Given the description of an element on the screen output the (x, y) to click on. 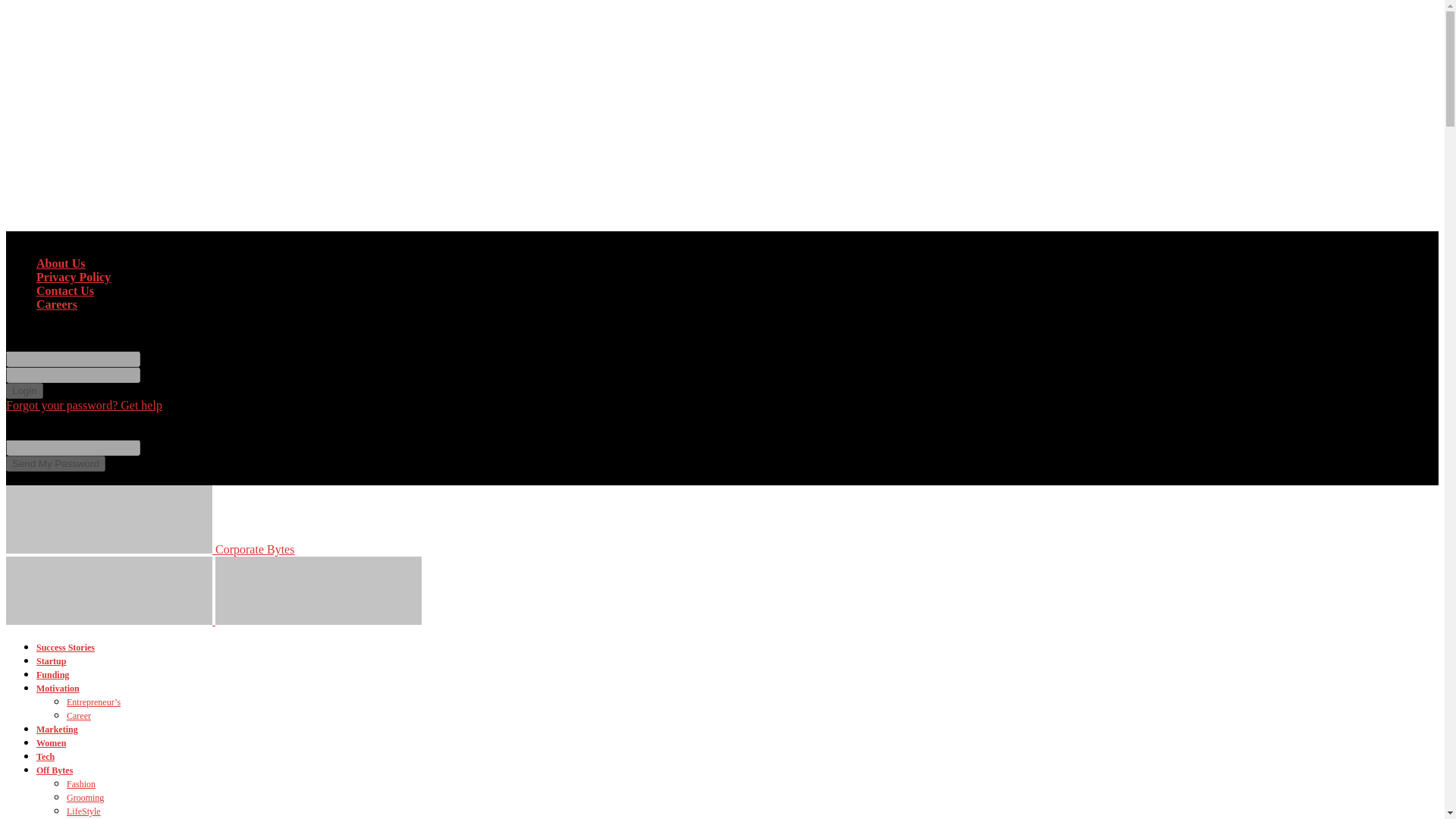
Motivation (58, 688)
Success Stories (65, 647)
Marketing (57, 728)
Corporate Bytes (149, 549)
About Us (60, 263)
Login (24, 390)
Forgot your password? Get help (83, 404)
Women (50, 742)
Careers (56, 304)
Send My Password (54, 463)
Privacy Policy (73, 277)
Career (78, 715)
Contact Us (65, 290)
Startup (50, 661)
Funding (52, 674)
